Given the description of an element on the screen output the (x, y) to click on. 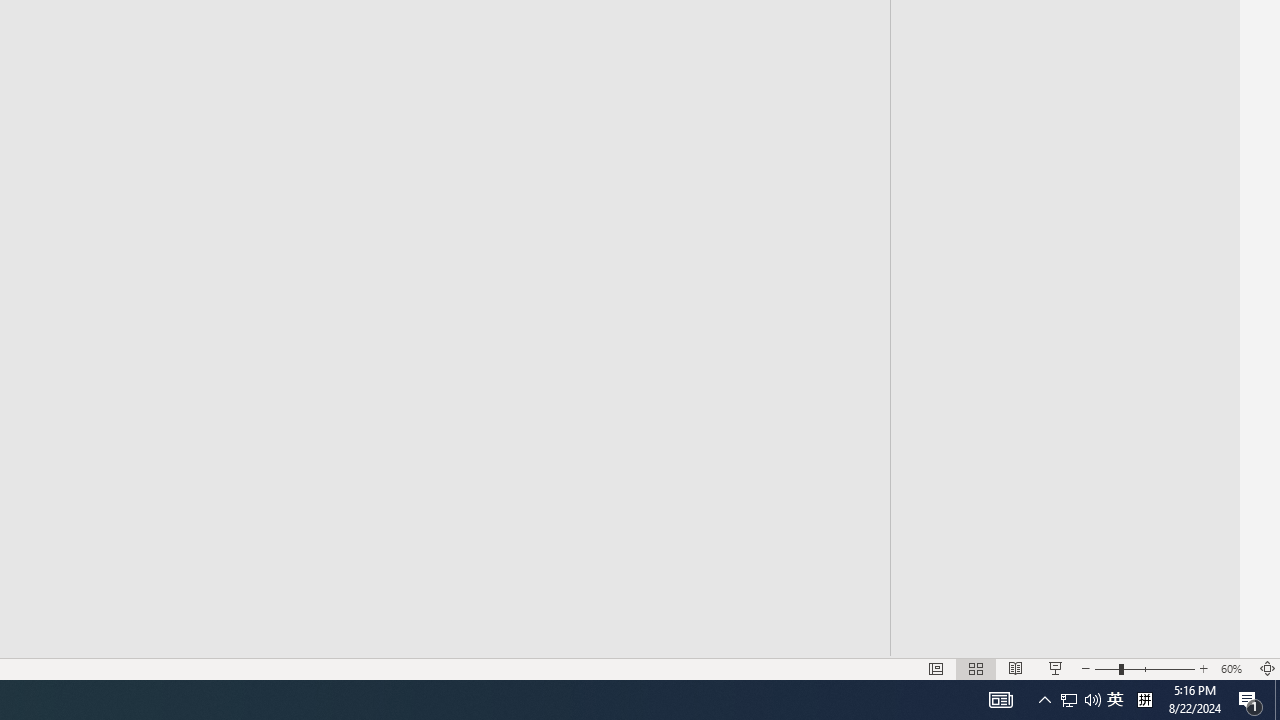
Zoom 60% (1234, 668)
